Given the description of an element on the screen output the (x, y) to click on. 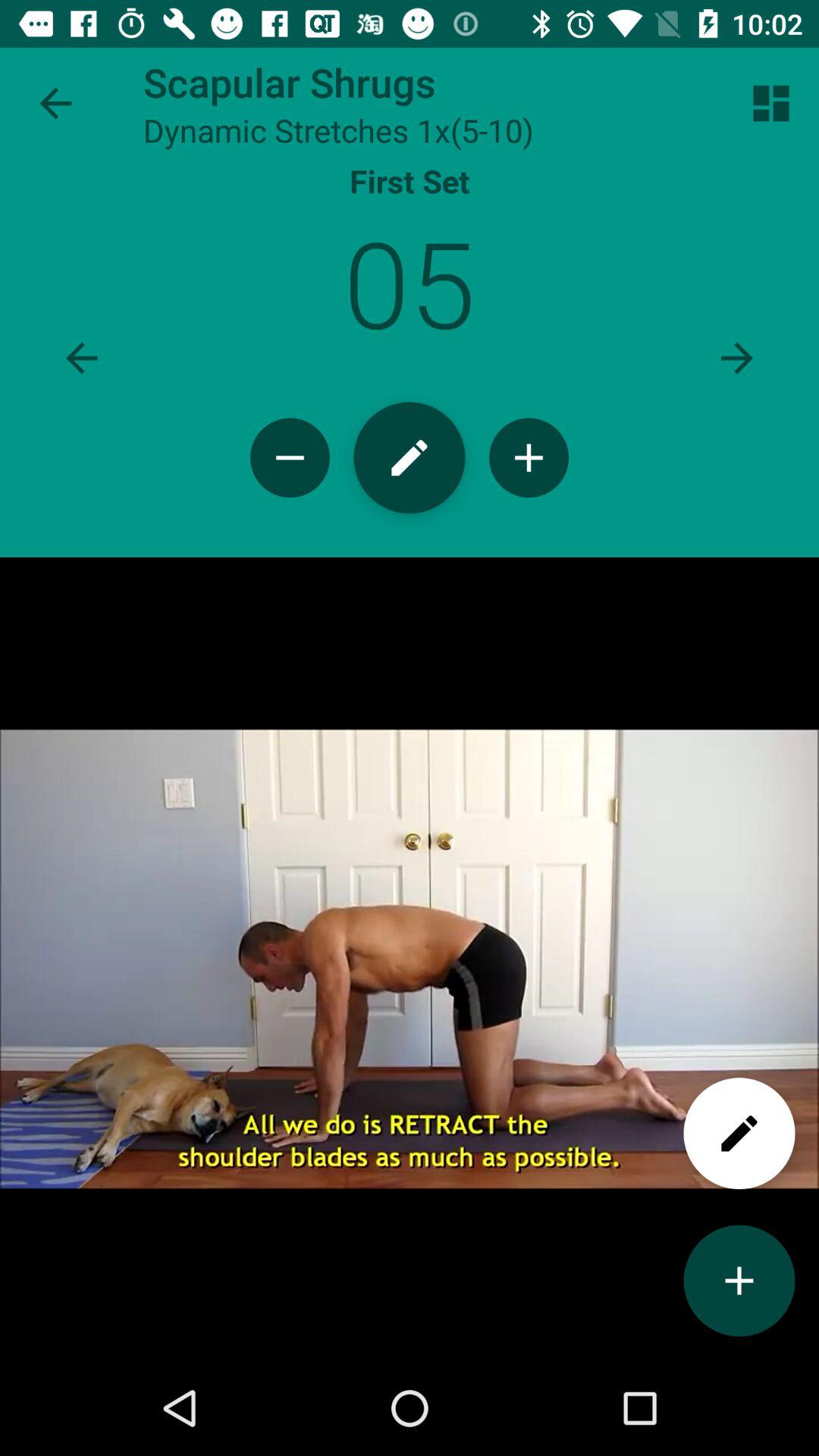
click to edit option (739, 1133)
